Given the description of an element on the screen output the (x, y) to click on. 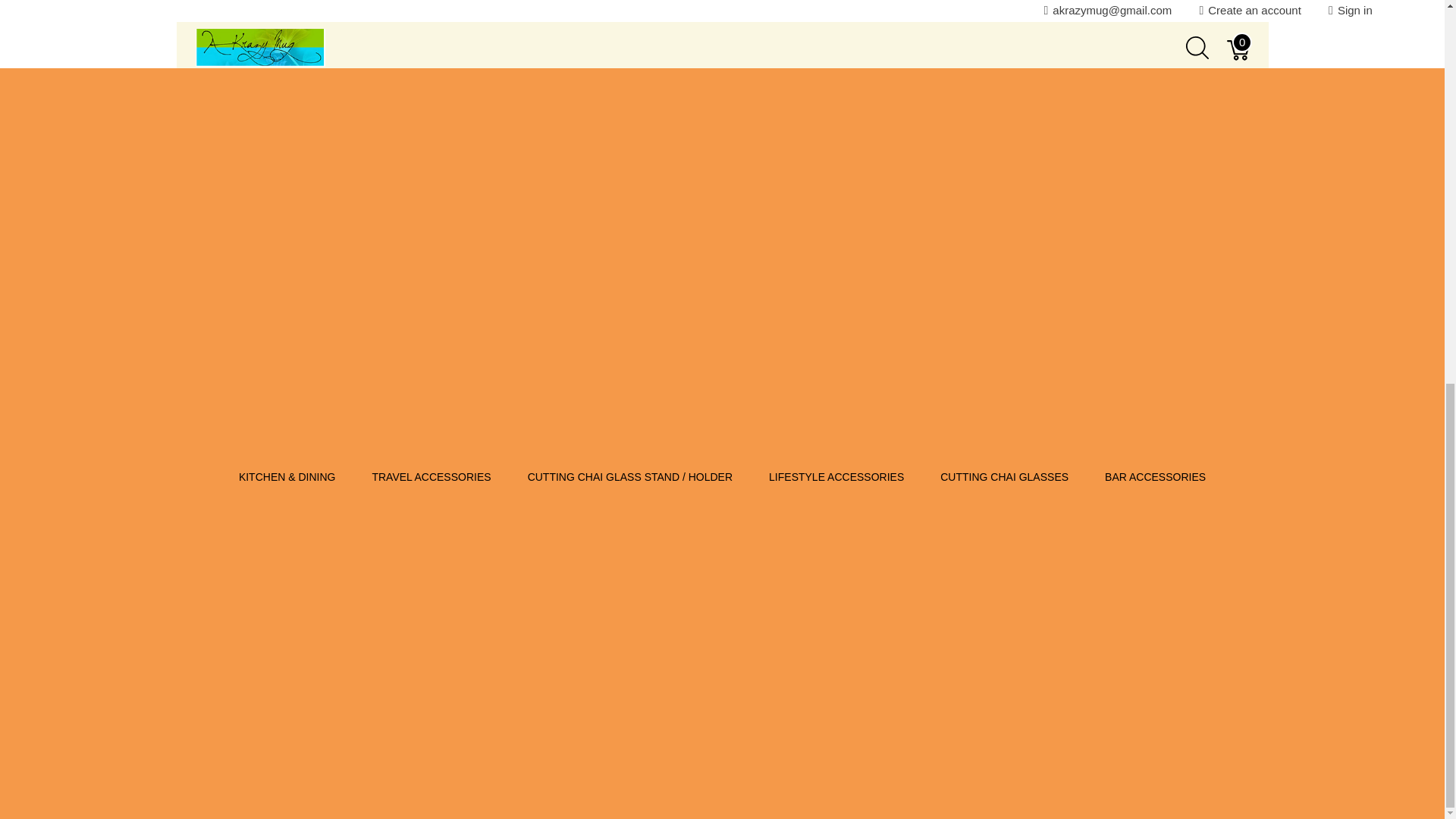
LIFESTYLE ACCESSORIES (836, 83)
TRAVEL ACCESSORIES (430, 83)
CUTTING CHAI GLASSES (1003, 83)
